Given the description of an element on the screen output the (x, y) to click on. 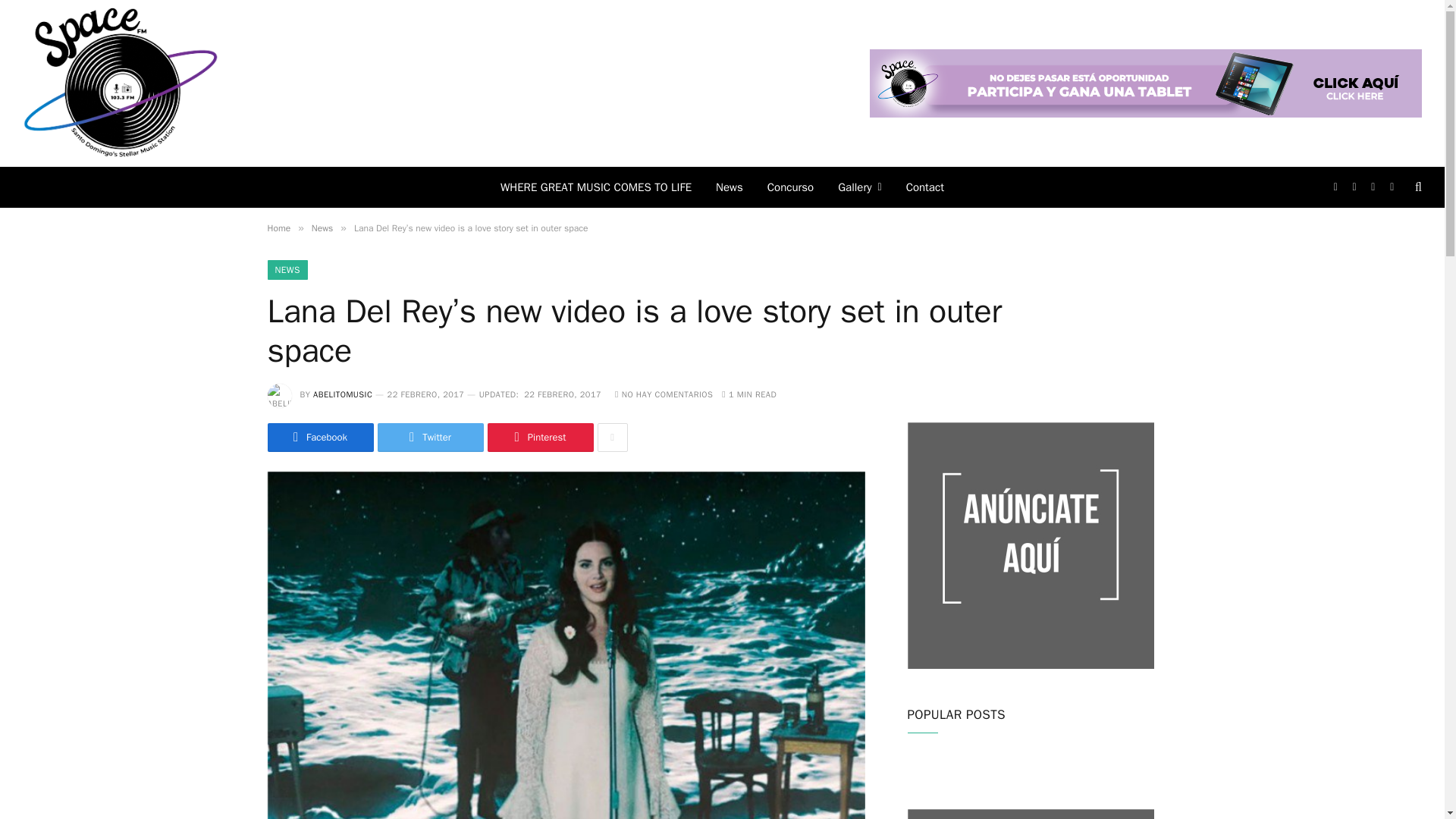
Share on Facebook (319, 437)
Show More Social Sharing (611, 437)
Home (277, 227)
Gallery (859, 187)
Space 103.3 FM (120, 83)
WHERE GREAT MUSIC COMES TO LIFE (595, 187)
NO HAY COMENTARIOS (663, 394)
News (729, 187)
Concurso (790, 187)
News (322, 227)
